Given the description of an element on the screen output the (x, y) to click on. 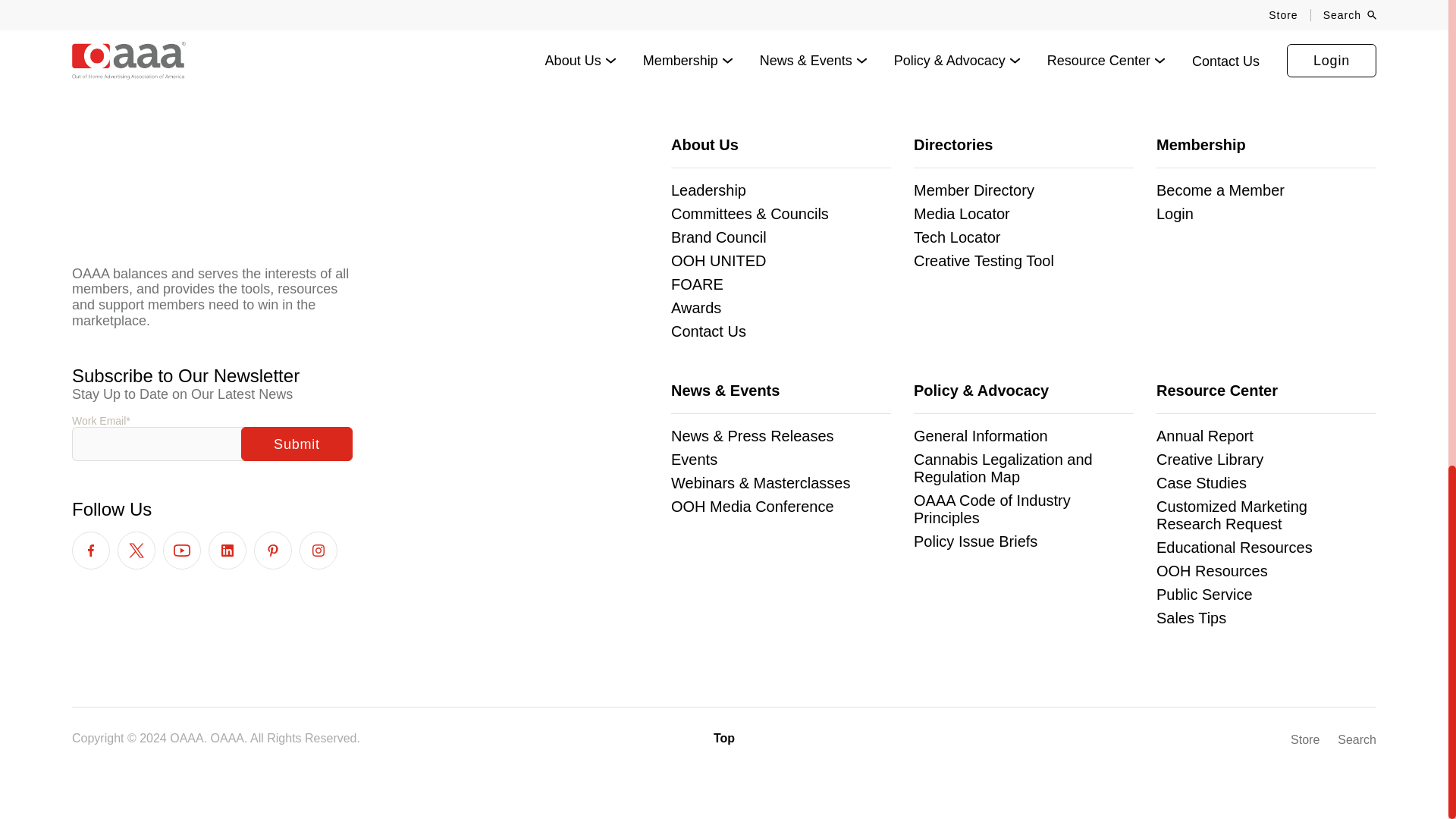
Visit our instagram page (318, 550)
Visit our facebook page (90, 550)
Visit our pinterest page (272, 550)
Visit our youtube page (181, 550)
Visit our linkedin page (227, 550)
Visit our twitter page (136, 550)
Submit (296, 443)
